Given the description of an element on the screen output the (x, y) to click on. 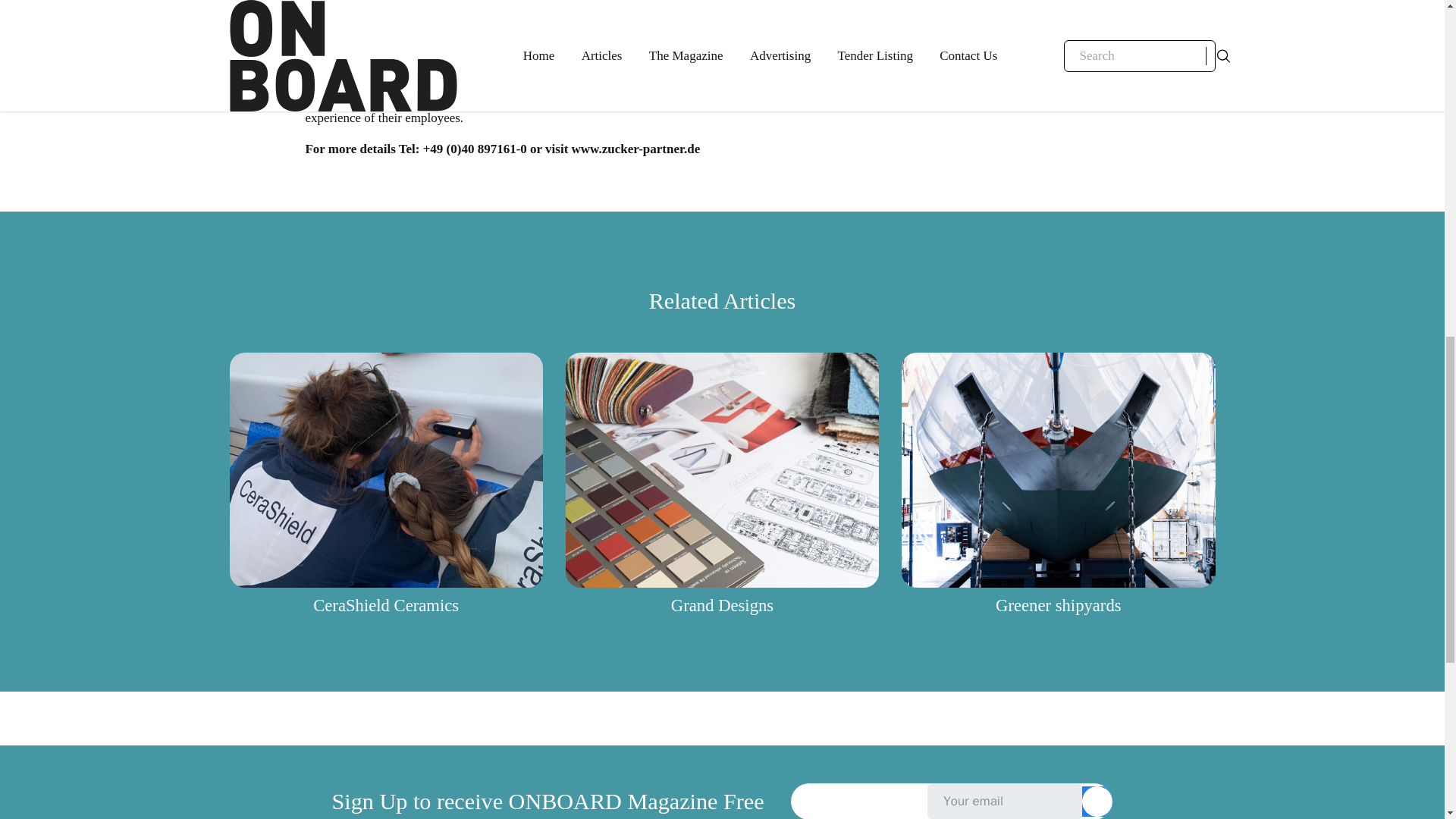
Grand Designs (722, 605)
www.zucker-partner.de (636, 148)
CeraShield Ceramics (385, 605)
Greener shipyards (1058, 605)
